Given the description of an element on the screen output the (x, y) to click on. 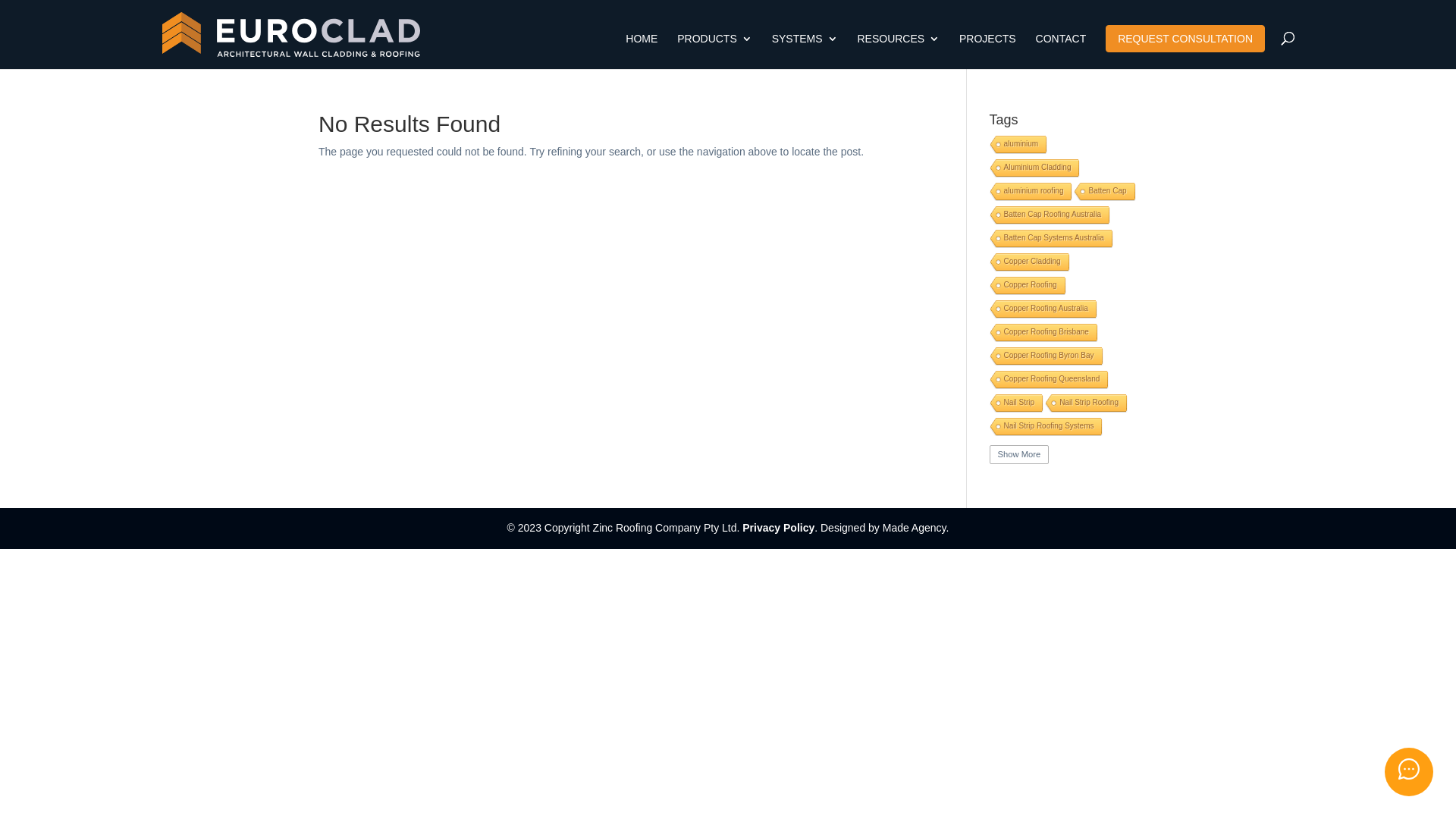
Aluminium Cladding Element type: text (1033, 168)
Batten Cap Element type: text (1102, 191)
REQUEST CONSULTATION Element type: text (1185, 38)
Batten Cap Roofing Australia Element type: text (1048, 215)
Copper Roofing Brisbane Element type: text (1042, 332)
RESOURCES Element type: text (897, 51)
aluminium roofing Element type: text (1029, 191)
Copper Cladding Element type: text (1028, 262)
HOME Element type: text (641, 51)
Copper Roofing Byron Bay Element type: text (1044, 356)
Nail Strip Roofing Systems Element type: text (1044, 426)
CONTACT Element type: text (1060, 51)
Nail Strip Roofing Element type: text (1084, 403)
Nail Strip Element type: text (1015, 403)
Privacy Policy Element type: text (778, 527)
Batten Cap Systems Australia Element type: text (1049, 238)
aluminium Element type: text (1017, 144)
Copper Roofing Queensland Element type: text (1047, 379)
Copper Roofing Element type: text (1026, 285)
Show More Element type: text (1019, 454)
PROJECTS Element type: text (987, 51)
Copper Roofing Australia Element type: text (1041, 309)
SYSTEMS Element type: text (804, 51)
PRODUCTS Element type: text (714, 51)
